Given the description of an element on the screen output the (x, y) to click on. 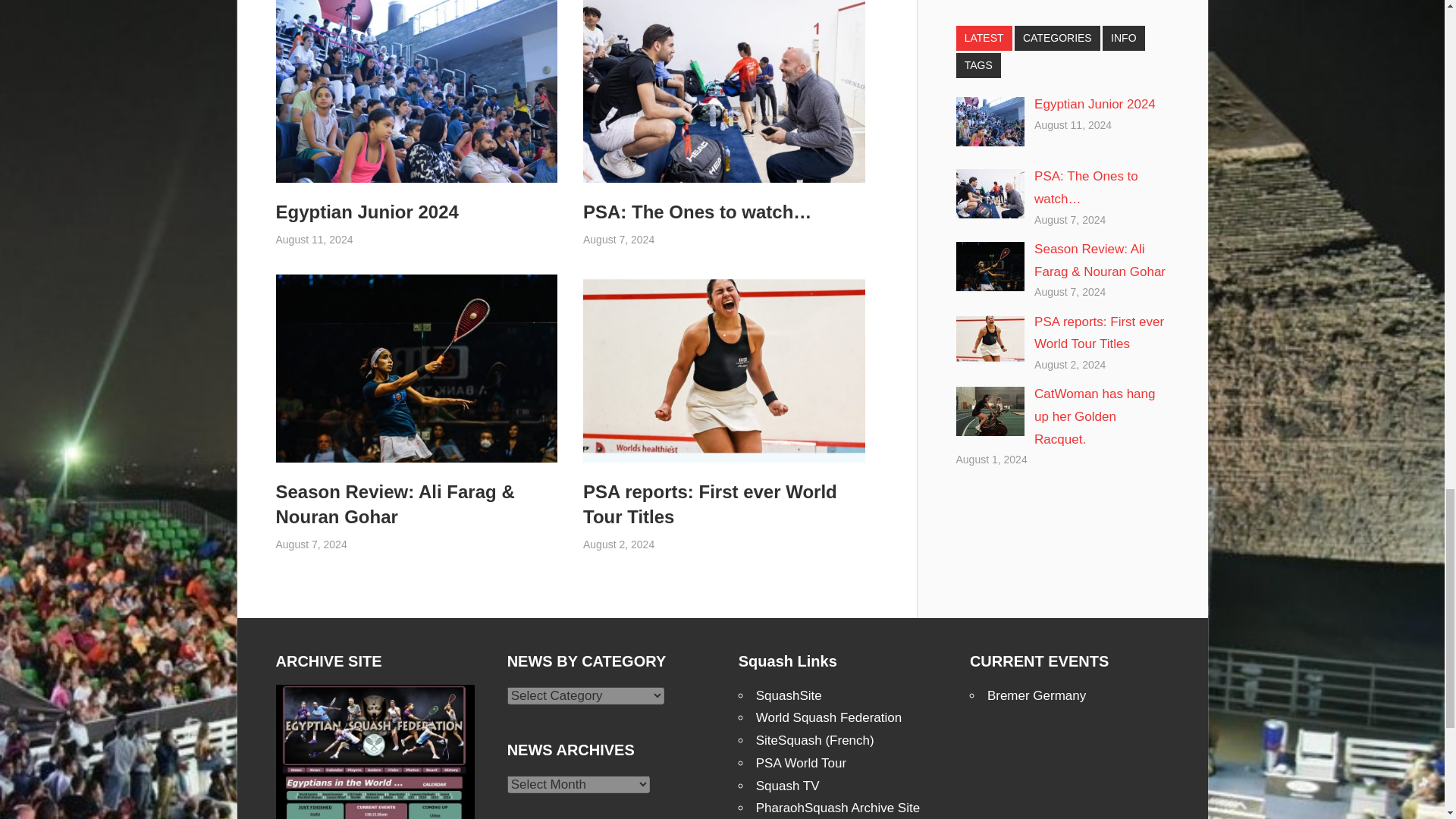
12:19 am (311, 544)
August 11, 2024 (314, 239)
August 2, 2024 (618, 544)
2:21 pm (314, 239)
PSA reports: First ever World Tour Titles (710, 504)
Egyptian Junior 2024 (367, 211)
August 7, 2024 (311, 544)
10:32 pm (618, 544)
10:09 pm (618, 239)
August 7, 2024 (618, 239)
